Given the description of an element on the screen output the (x, y) to click on. 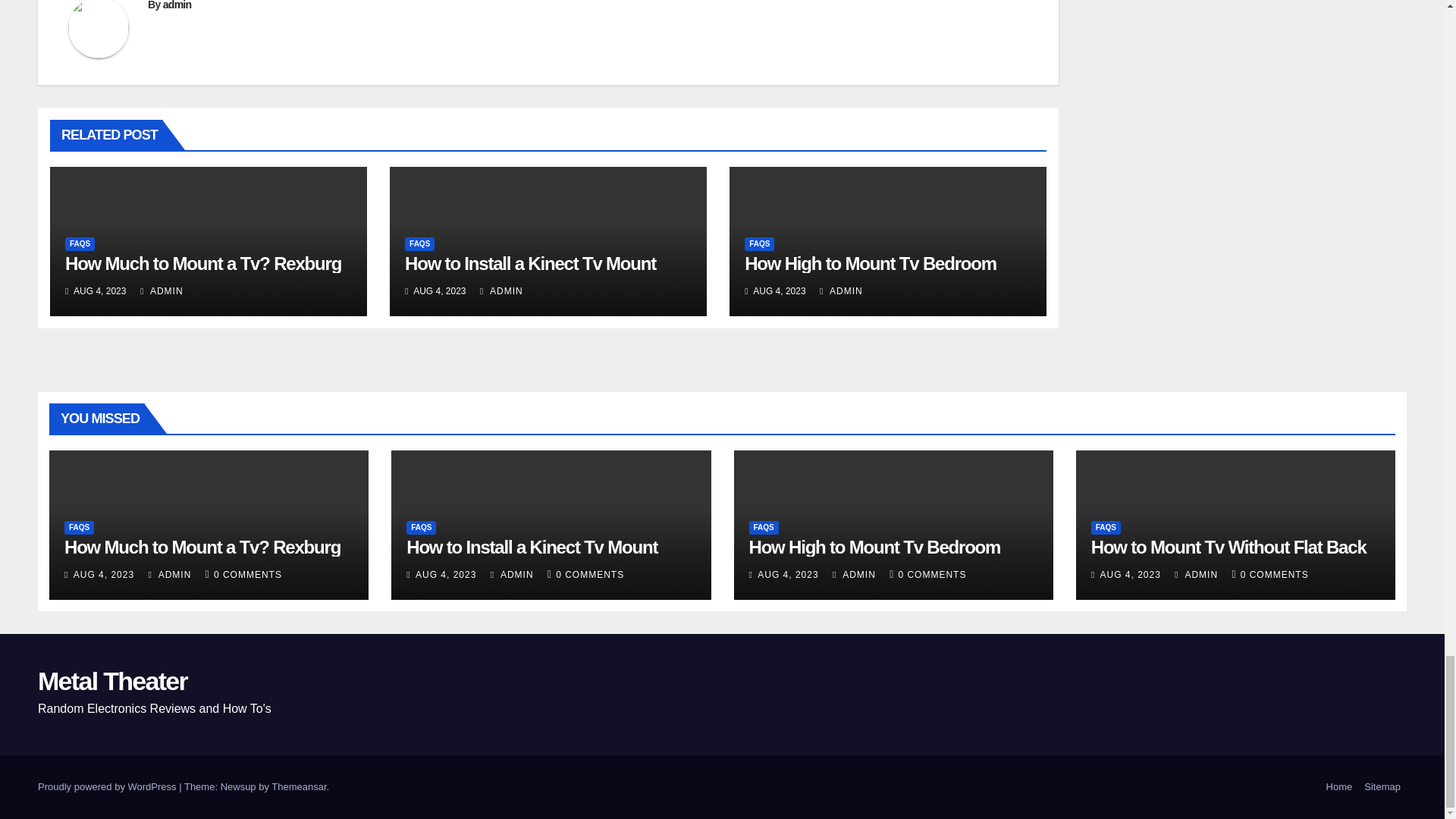
Permalink to: How Much to Mount a Tv? Rexburg (202, 263)
Permalink to: How Much to Mount a Tv? Rexburg (202, 547)
Permalink to: How to Install a Kinect Tv Mount (530, 263)
admin (177, 5)
Permalink to: How High to Mount Tv Bedroom (869, 263)
